Given the description of an element on the screen output the (x, y) to click on. 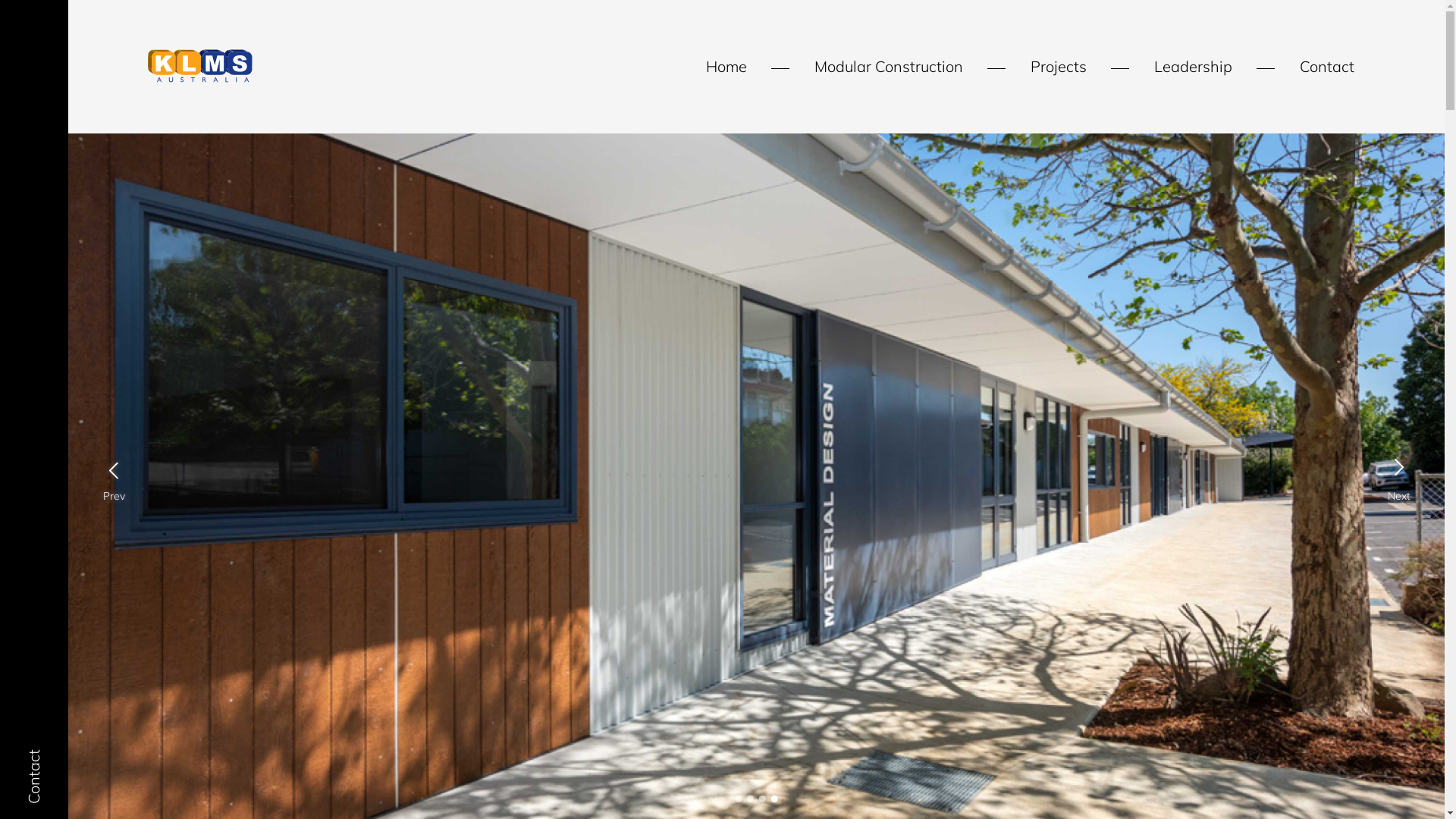
Modular Construction Element type: text (888, 65)
Home Element type: text (725, 65)
Contact Element type: text (43, 776)
Leadership Element type: text (1193, 65)
Contact Element type: text (1326, 65)
Projects Element type: text (1057, 65)
